Given the description of an element on the screen output the (x, y) to click on. 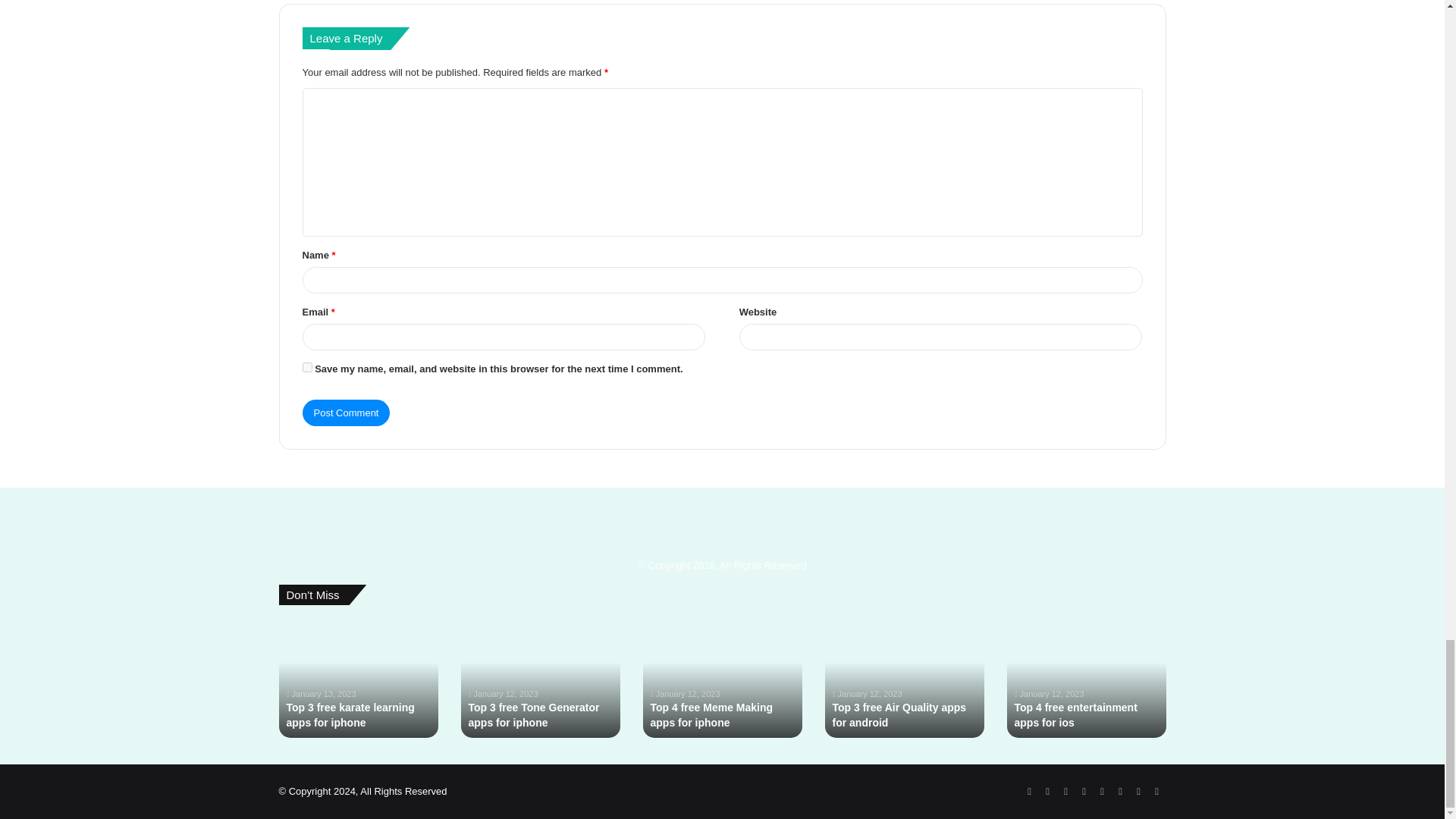
yes (306, 367)
Post Comment (345, 412)
